Given the description of an element on the screen output the (x, y) to click on. 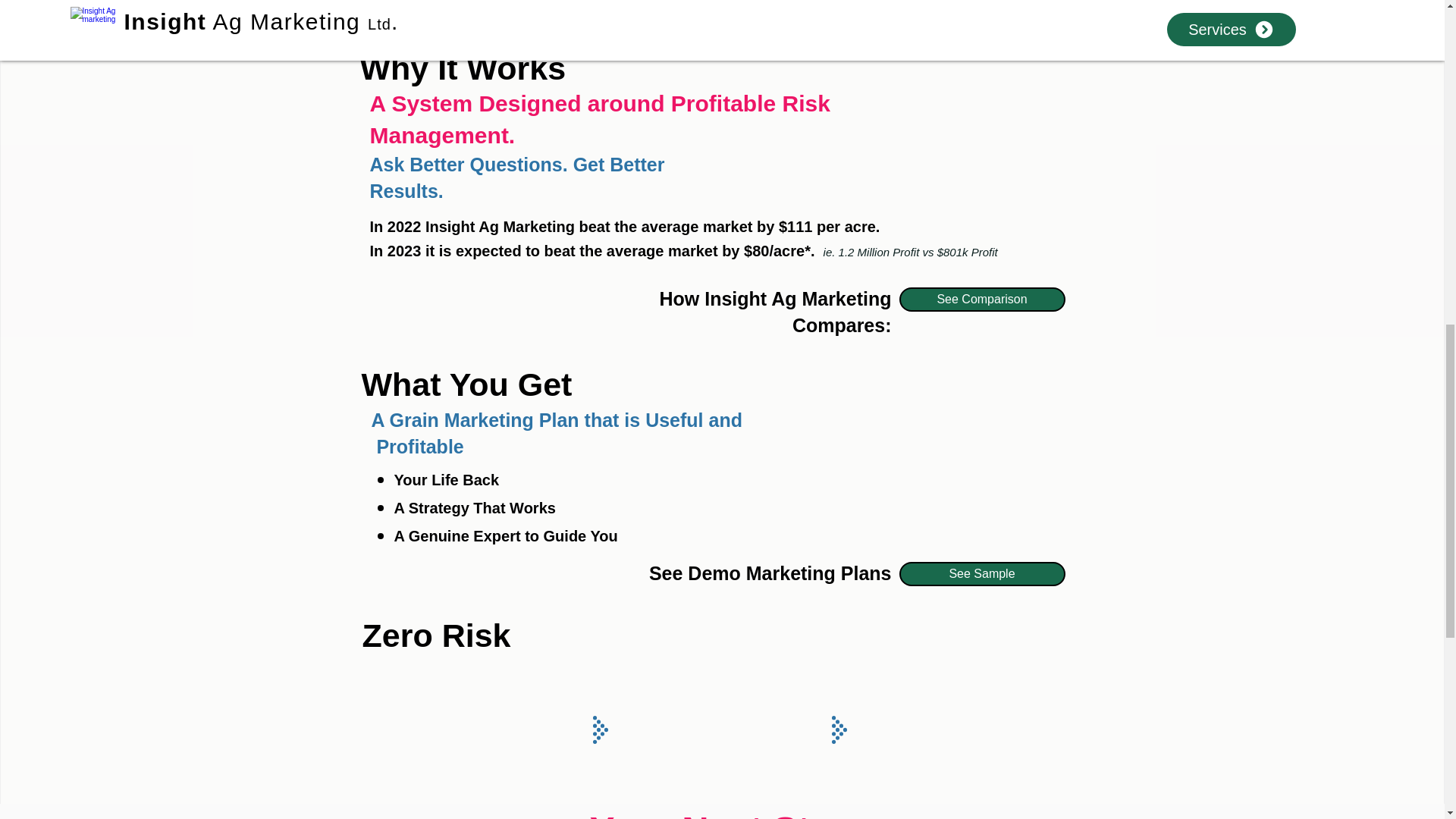
See Sample (982, 573)
See Comparison (982, 299)
